Given the description of an element on the screen output the (x, y) to click on. 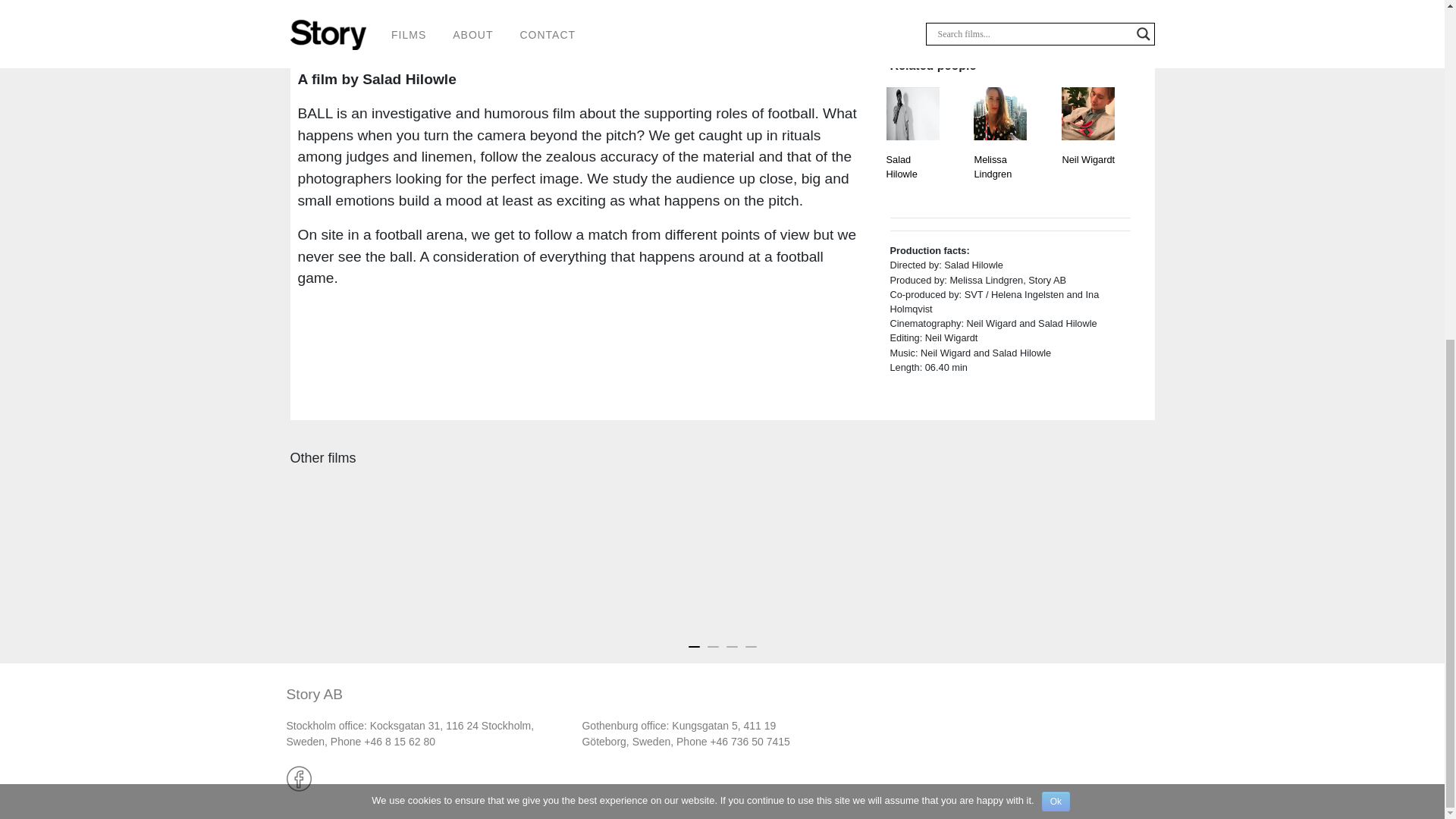
Melissa Lindgren (1000, 178)
Neil Wigardt (1088, 178)
Salad Hilowle (912, 178)
